Given the description of an element on the screen output the (x, y) to click on. 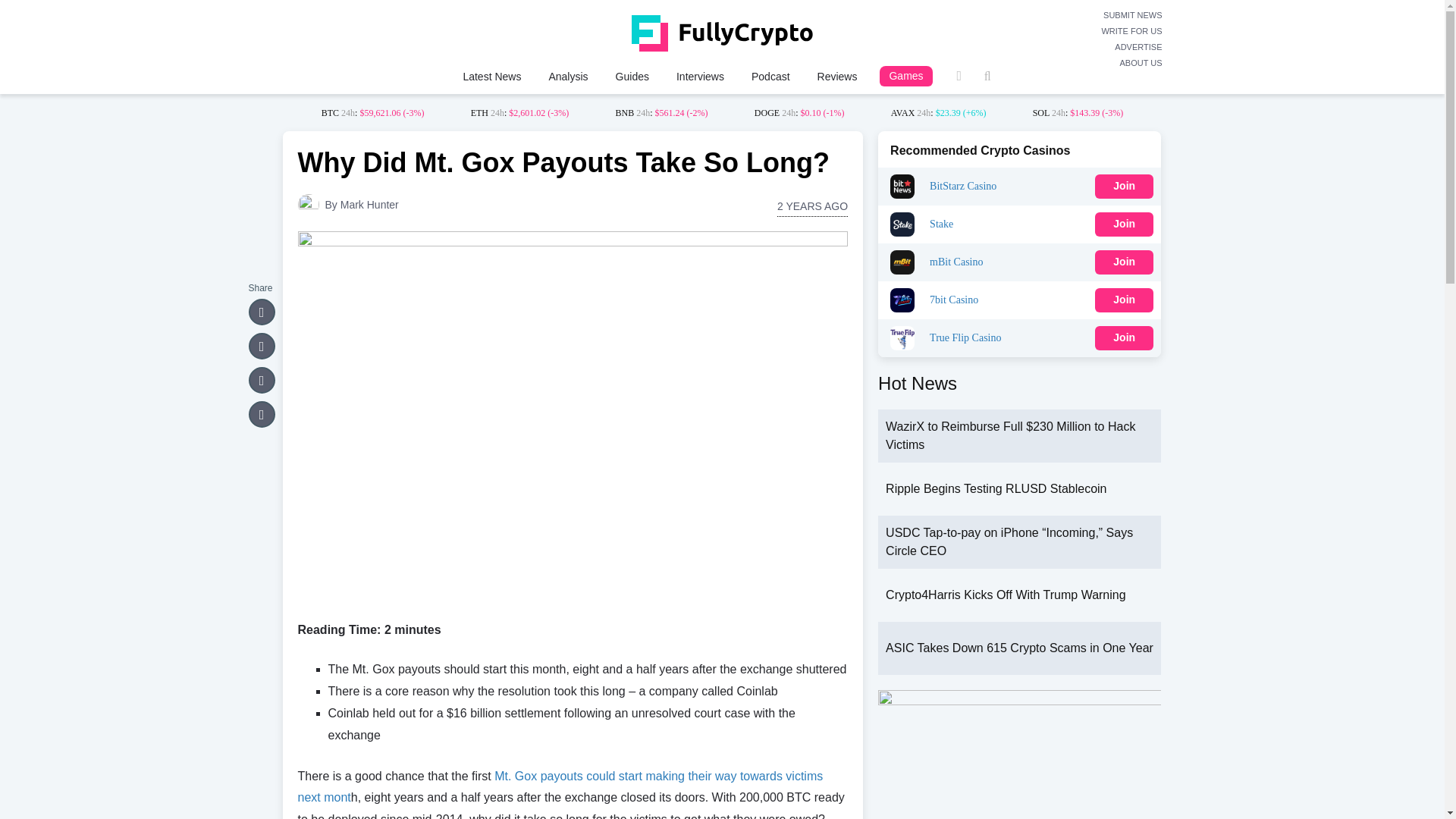
Reviews (836, 76)
Analysis (567, 76)
Latest News (491, 76)
Guides (632, 76)
Podcast (770, 76)
Games (905, 76)
SUBMIT NEWS (1130, 15)
WRITE FOR US (1130, 31)
ADVERTISE (1130, 47)
Posts by Mark Hunter (369, 204)
